Given the description of an element on the screen output the (x, y) to click on. 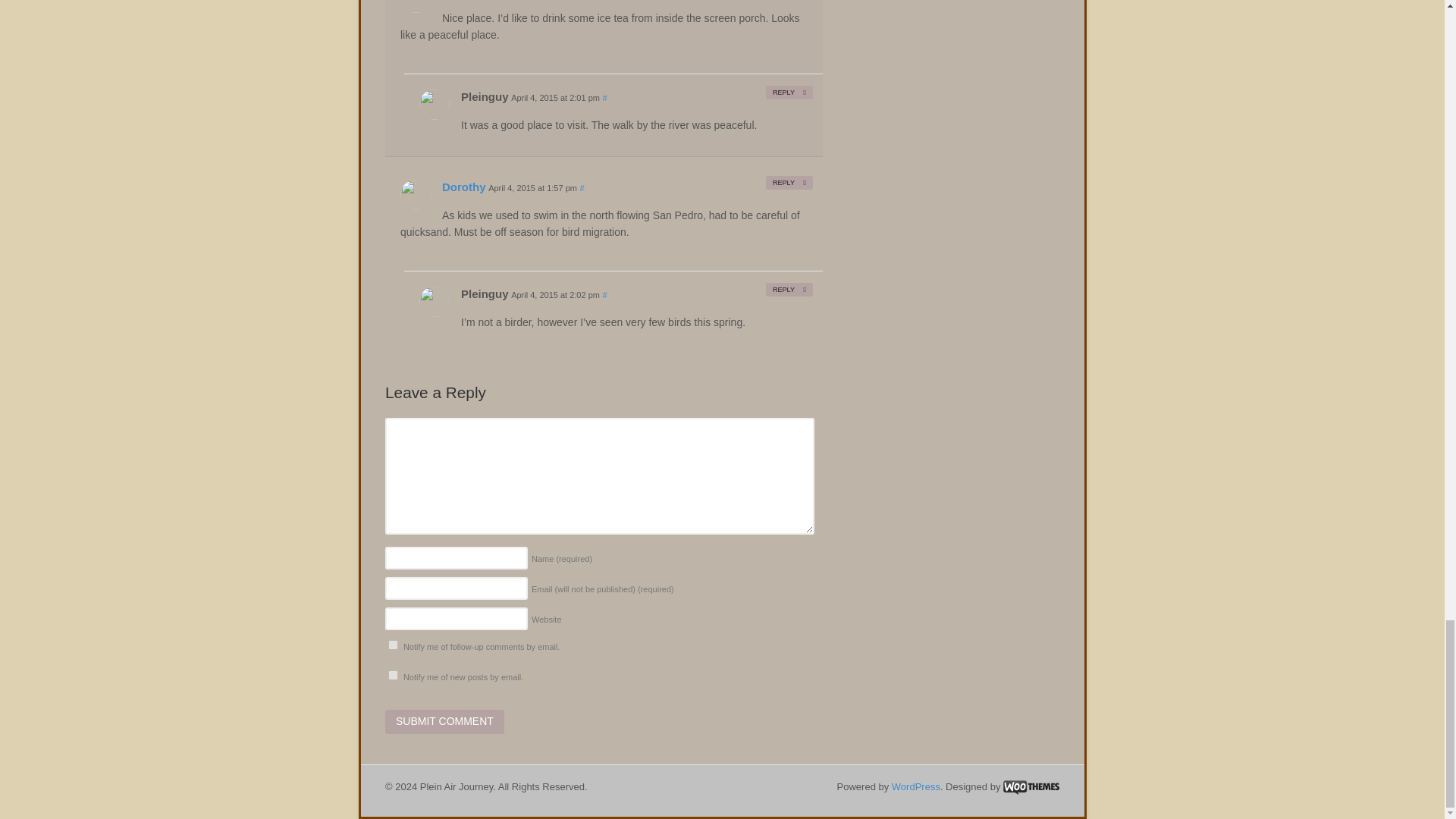
subscribe (392, 675)
Submit Comment (444, 721)
subscribe (392, 644)
